Given the description of an element on the screen output the (x, y) to click on. 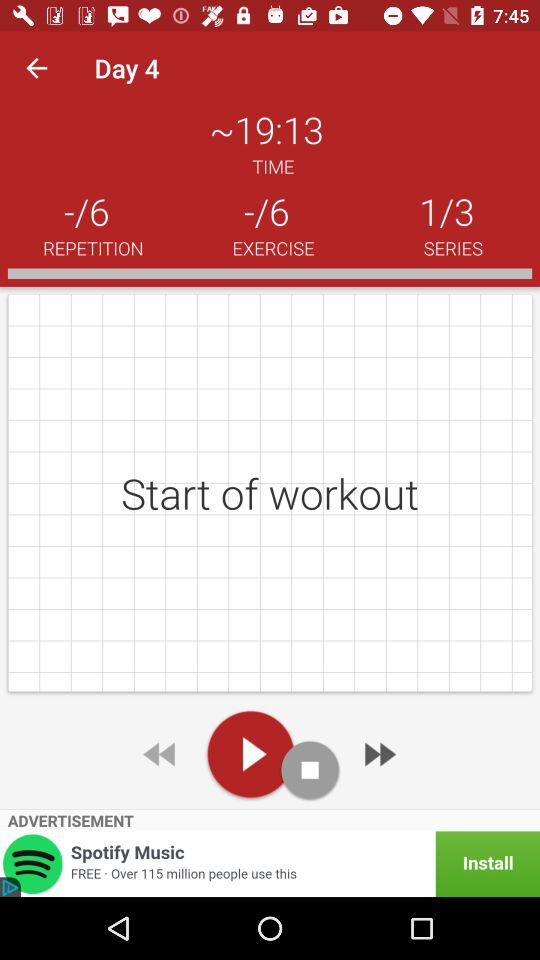
rewind (161, 754)
